Given the description of an element on the screen output the (x, y) to click on. 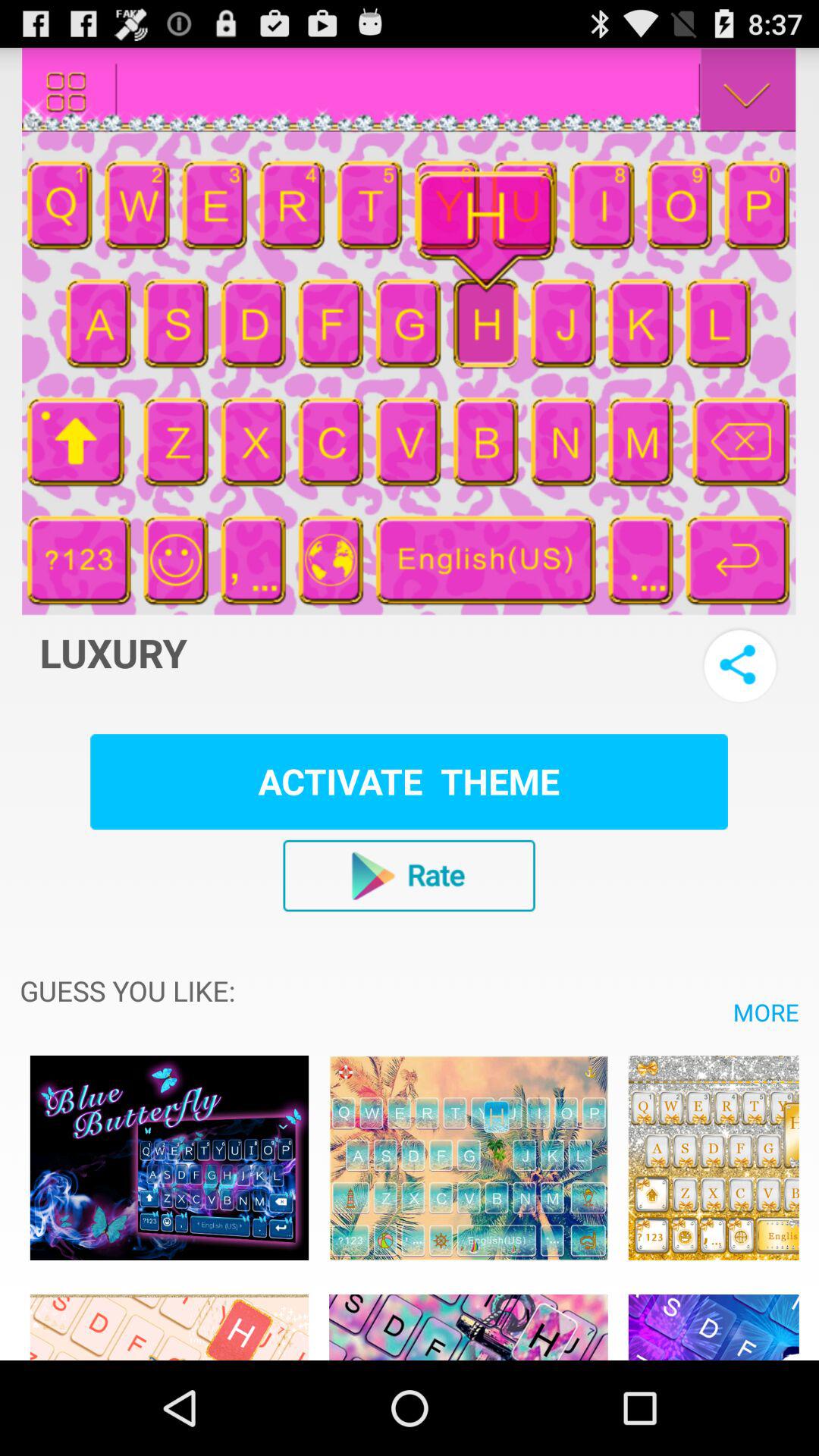
share the article (740, 665)
